Given the description of an element on the screen output the (x, y) to click on. 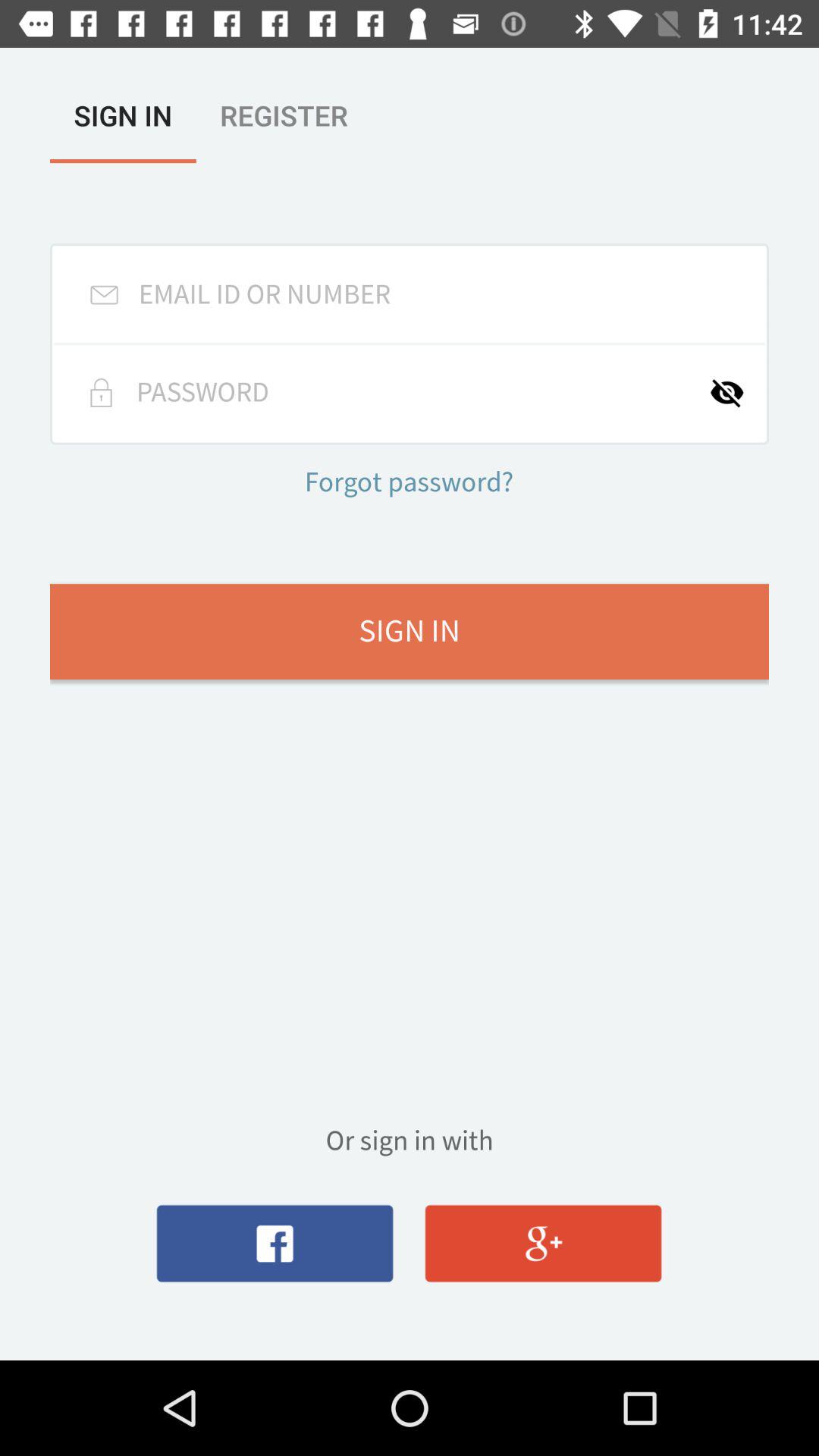
open icon above sign in item (408, 484)
